Given the description of an element on the screen output the (x, y) to click on. 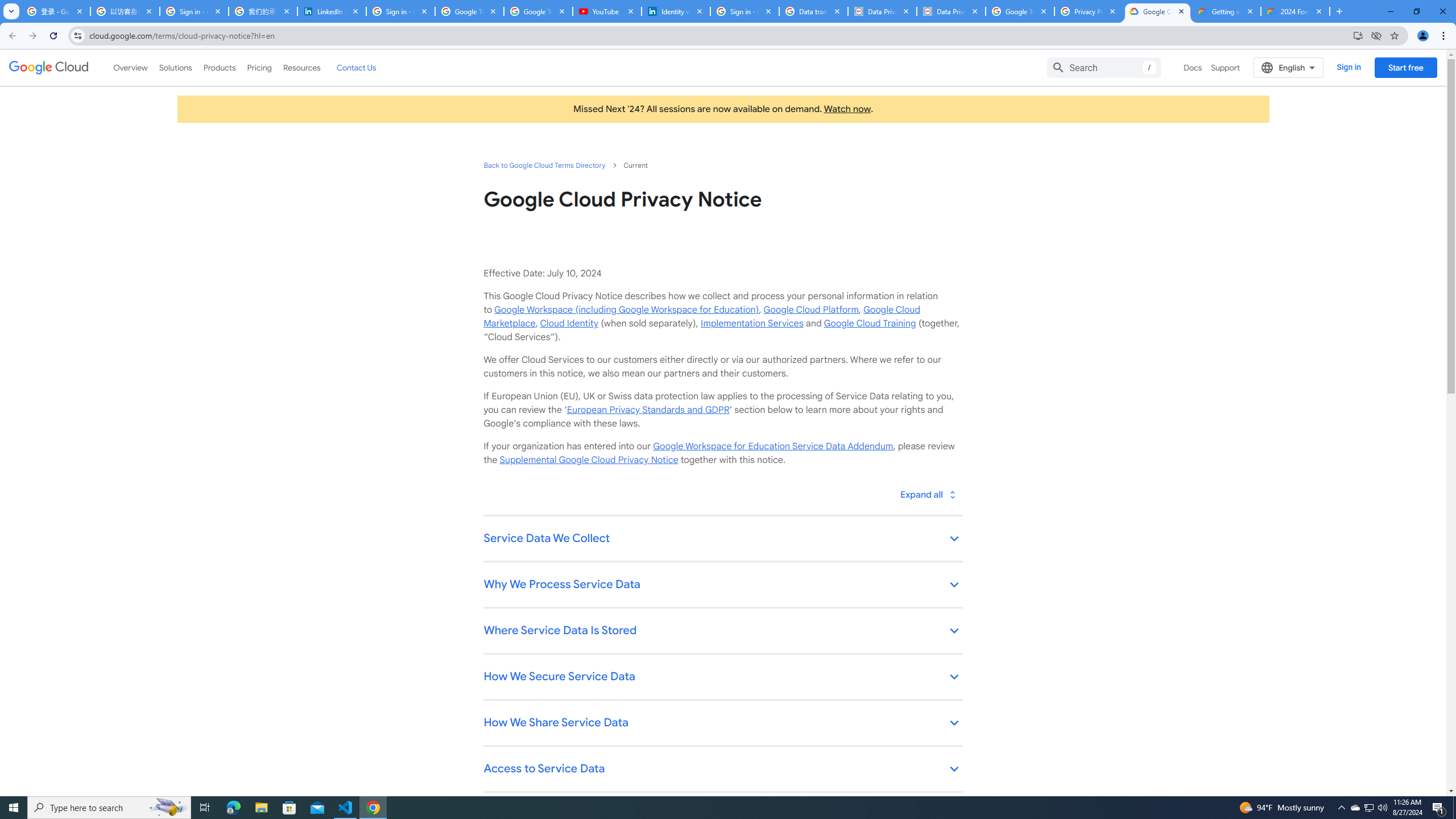
Google Cloud Platform (810, 309)
Products (218, 67)
Contact Us (355, 67)
How We Secure Service Data keyboard_arrow_down (722, 677)
Google Workspace (including Google Workspace for Education) (625, 309)
LinkedIn Privacy Policy (331, 11)
Resources (301, 67)
Sign in - Google Accounts (744, 11)
Data Privacy Framework (882, 11)
